Given the description of an element on the screen output the (x, y) to click on. 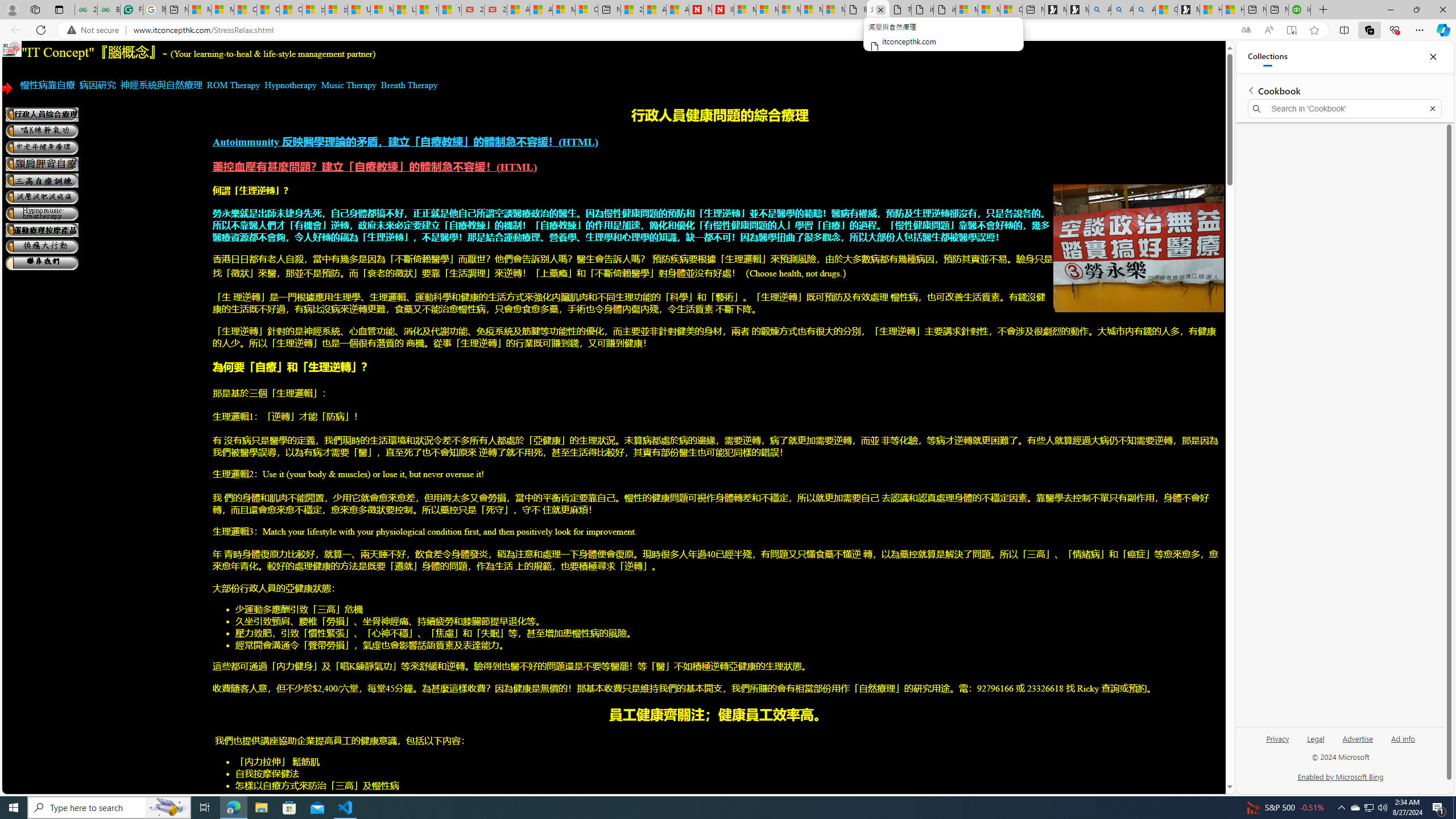
Alabama high school quarterback dies - Search (1099, 9)
Exit search (1432, 108)
25 Basic Linux Commands For Beginners - GeeksforGeeks (85, 9)
